Given the description of an element on the screen output the (x, y) to click on. 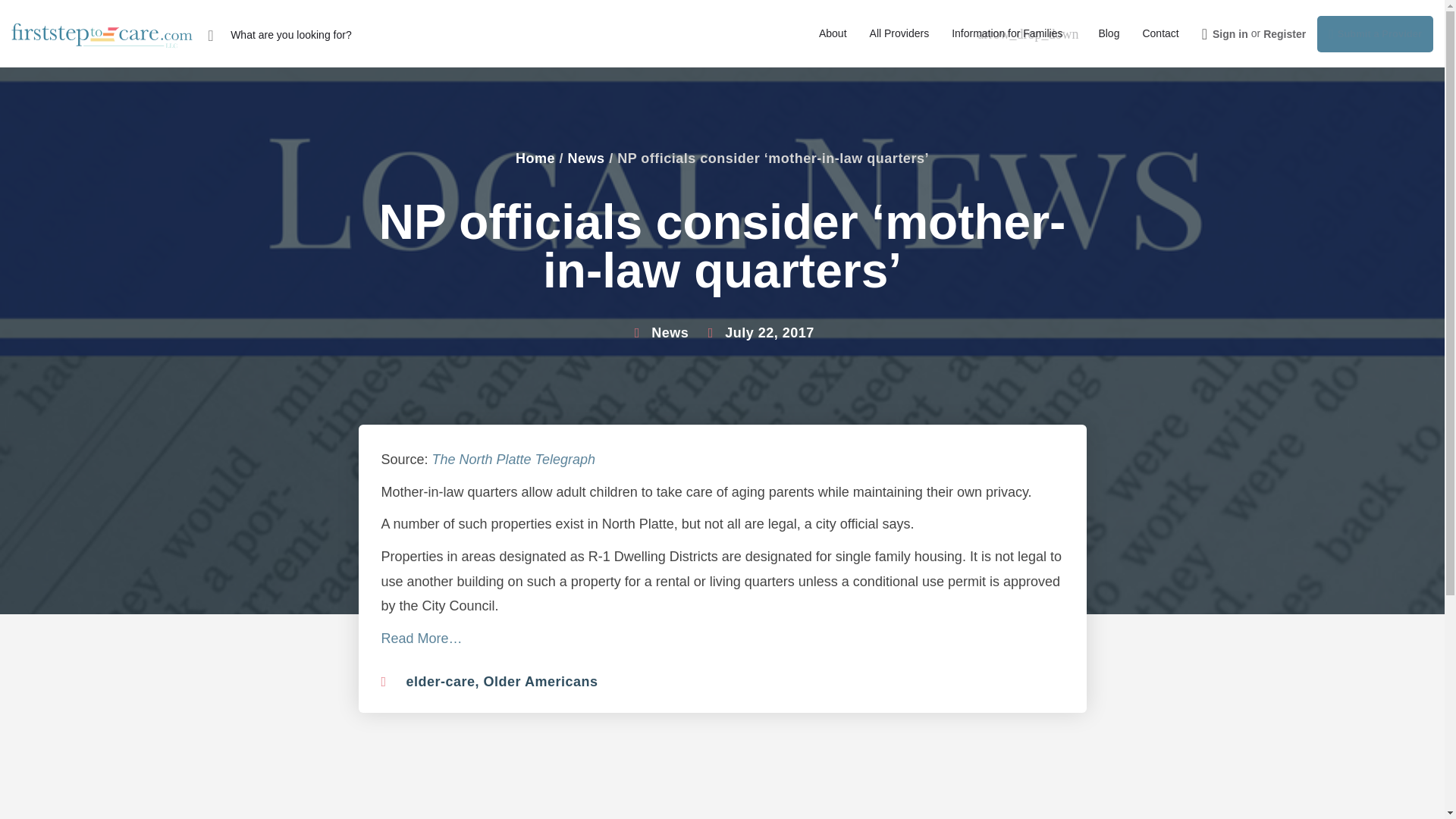
elder-care (441, 681)
All Providers (899, 33)
Register (1284, 33)
Older Americans (540, 681)
Information for Families (1007, 33)
July 22, 2017 (758, 333)
Contact (1159, 33)
The North Platte Telegraph  (515, 459)
News (586, 158)
Sign in (1229, 33)
News (669, 332)
About (832, 33)
Submit a Provider (1374, 33)
Home (534, 158)
